Given the description of an element on the screen output the (x, y) to click on. 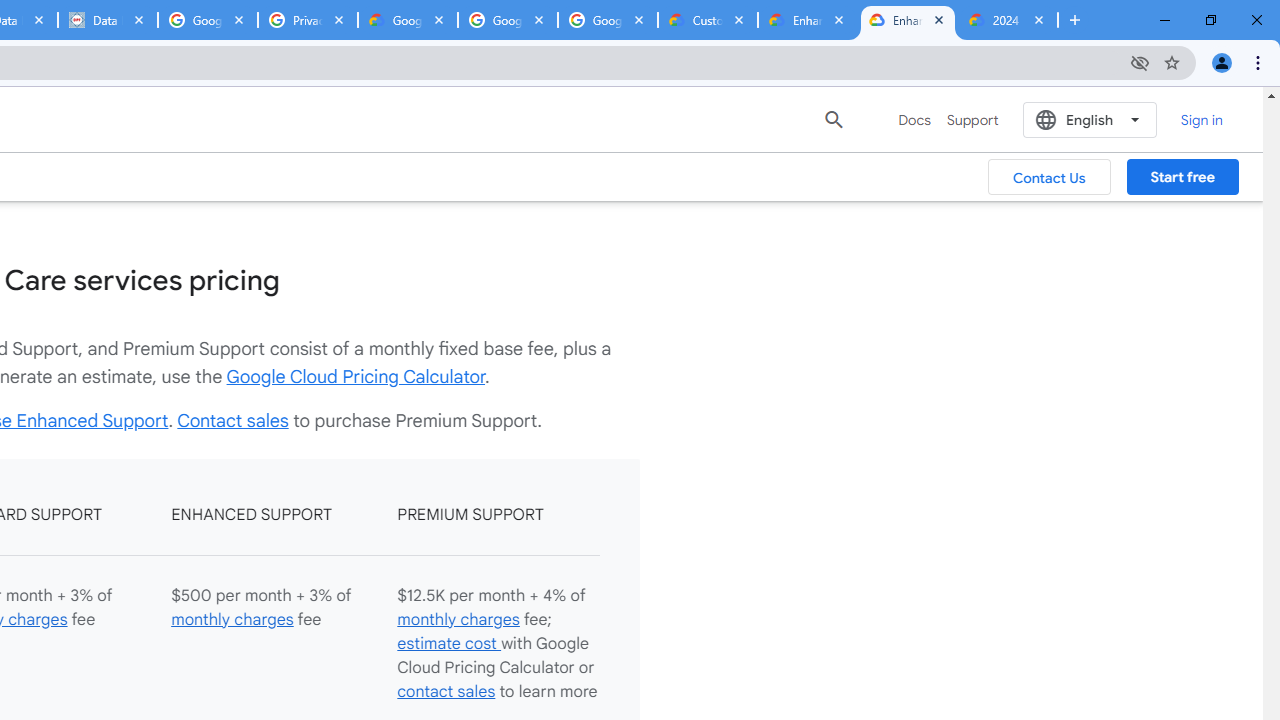
Google Cloud Pricing Calculator (356, 376)
Contact sales (232, 420)
Docs (914, 119)
